Given the description of an element on the screen output the (x, y) to click on. 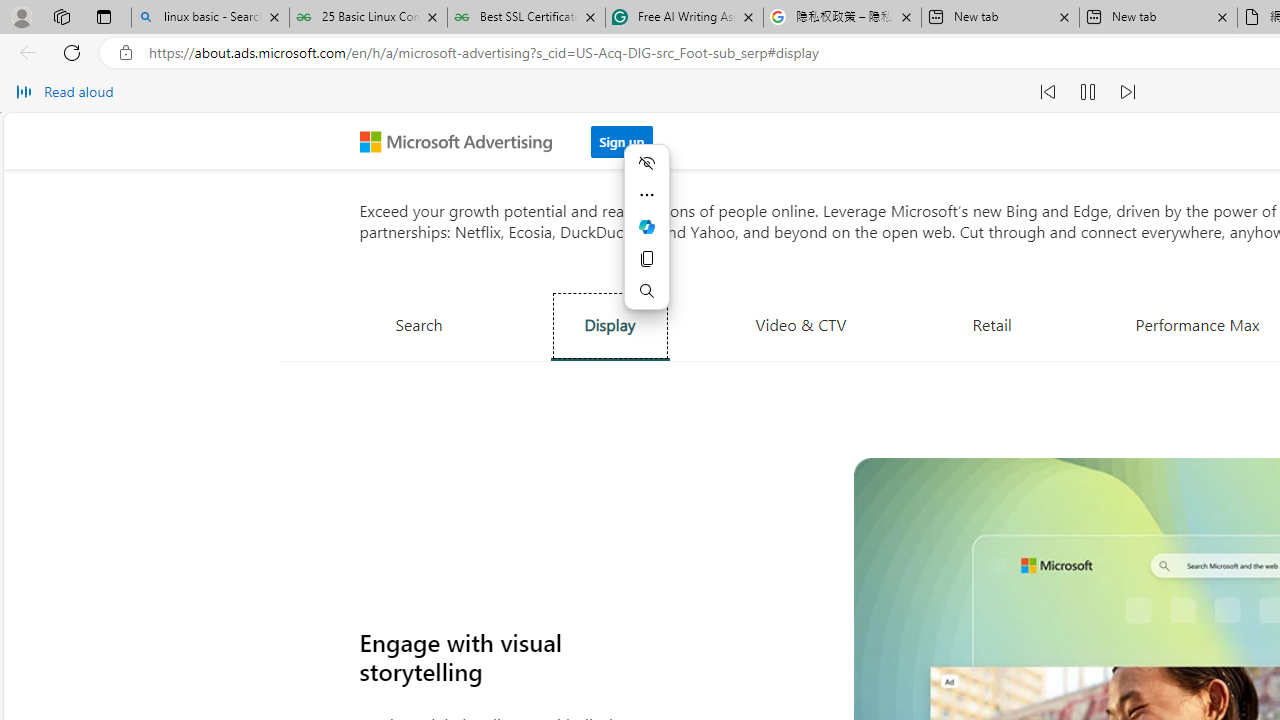
linux basic - Search (210, 17)
Mini menu on text selection (646, 226)
More actions (646, 194)
Ask Copilot (646, 226)
25 Basic Linux Commands For Beginners - GeeksforGeeks (368, 17)
Microsoft Advertising (463, 140)
Copy (646, 259)
Sign up (622, 141)
Performance Max (1197, 324)
